Given the description of an element on the screen output the (x, y) to click on. 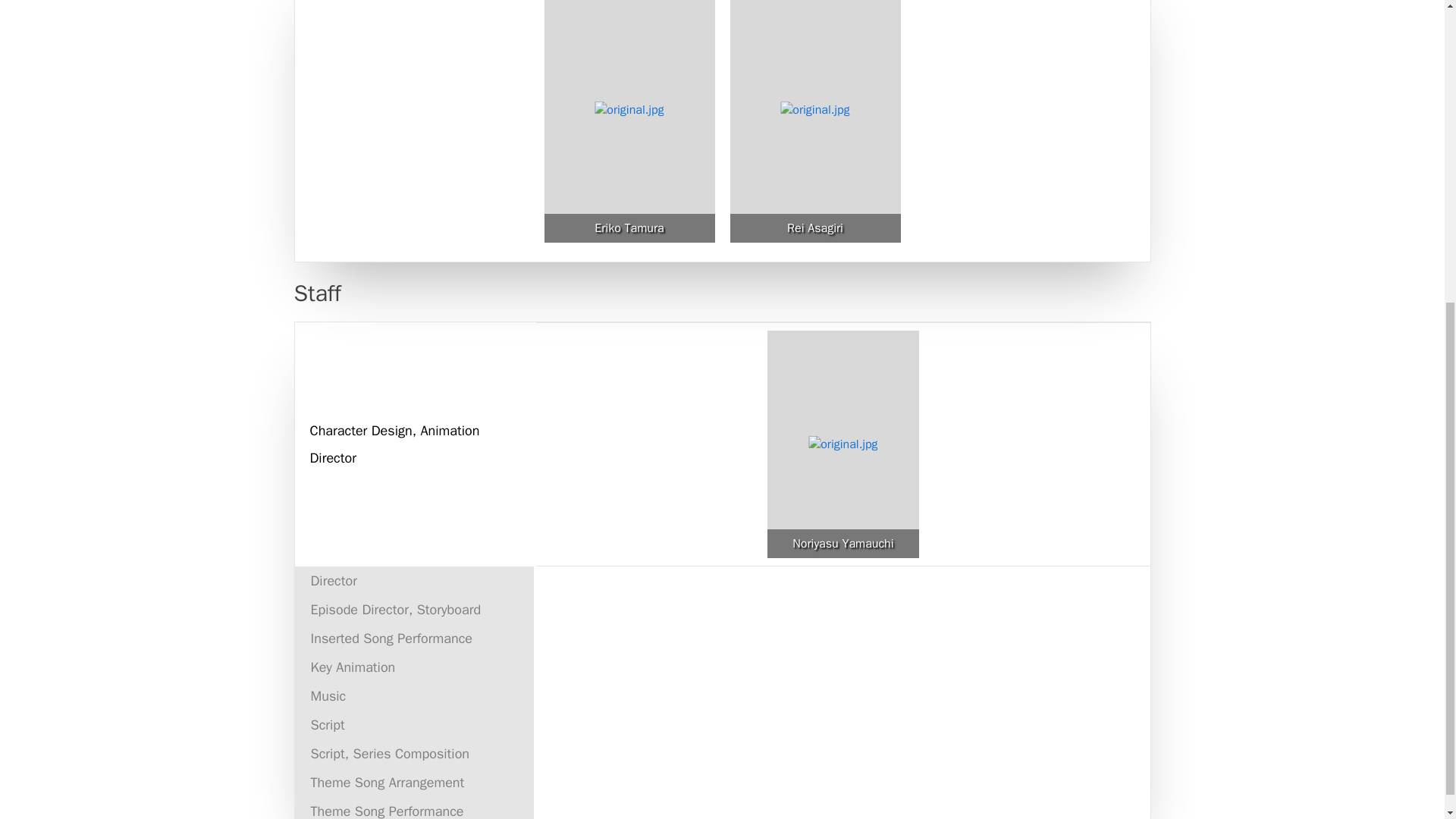
Eriko Tamura (628, 227)
Rei Asagiri (815, 227)
Noriyasu Yamauchi (842, 543)
